Given the description of an element on the screen output the (x, y) to click on. 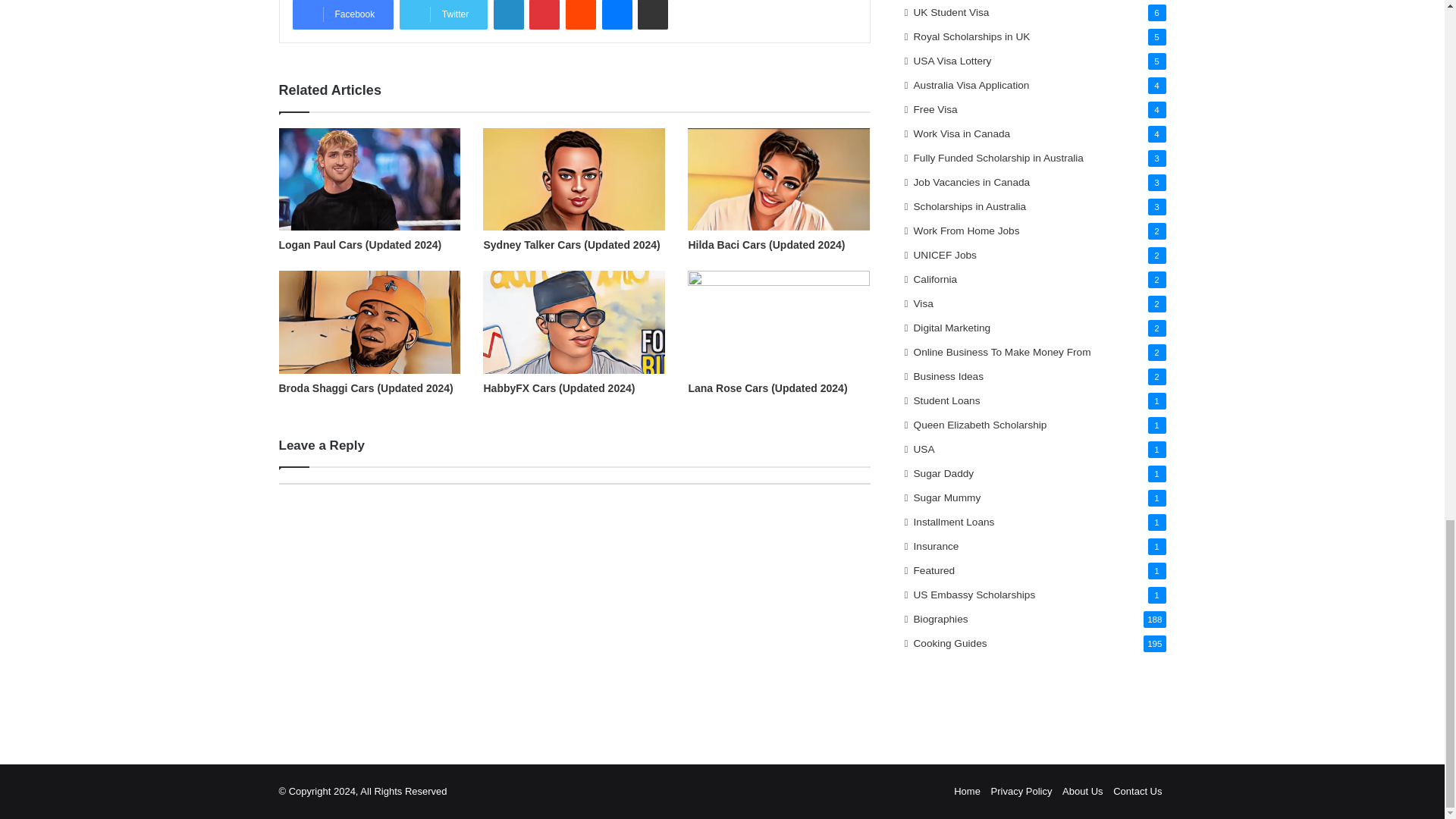
Messenger (616, 14)
Twitter (442, 14)
Facebook (343, 14)
Pinterest (544, 14)
Share via Email (652, 14)
Reddit (580, 14)
LinkedIn (508, 14)
Twitter (442, 14)
Messenger (616, 14)
